Given the description of an element on the screen output the (x, y) to click on. 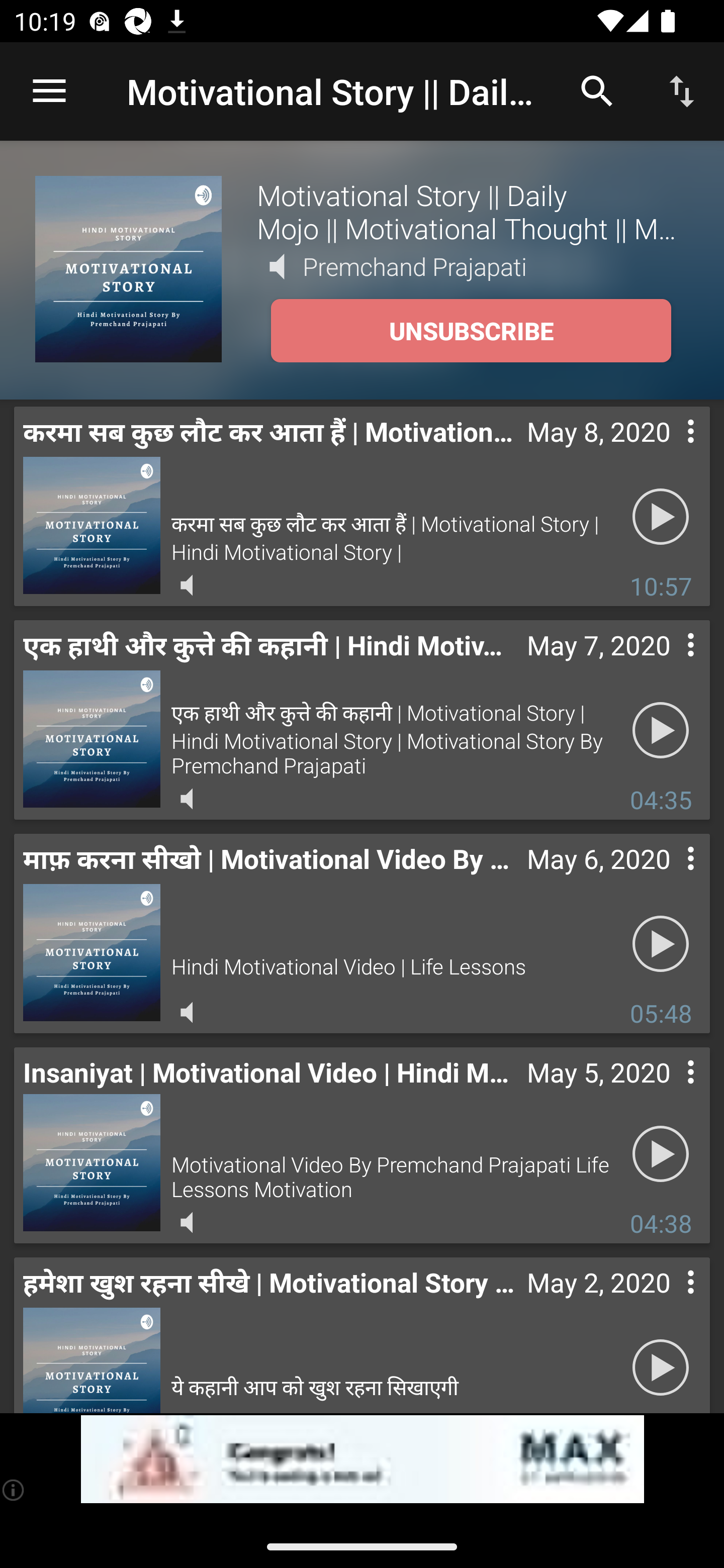
Open navigation sidebar (49, 91)
Search (597, 90)
Sort (681, 90)
UNSUBSCRIBE (470, 330)
Contextual menu (668, 451)
Play (660, 516)
Contextual menu (668, 665)
Play (660, 729)
Contextual menu (668, 878)
Play (660, 943)
Contextual menu (668, 1091)
Play (660, 1152)
Contextual menu (668, 1301)
Play (660, 1365)
app-monetization (362, 1459)
(i) (14, 1489)
